Given the description of an element on the screen output the (x, y) to click on. 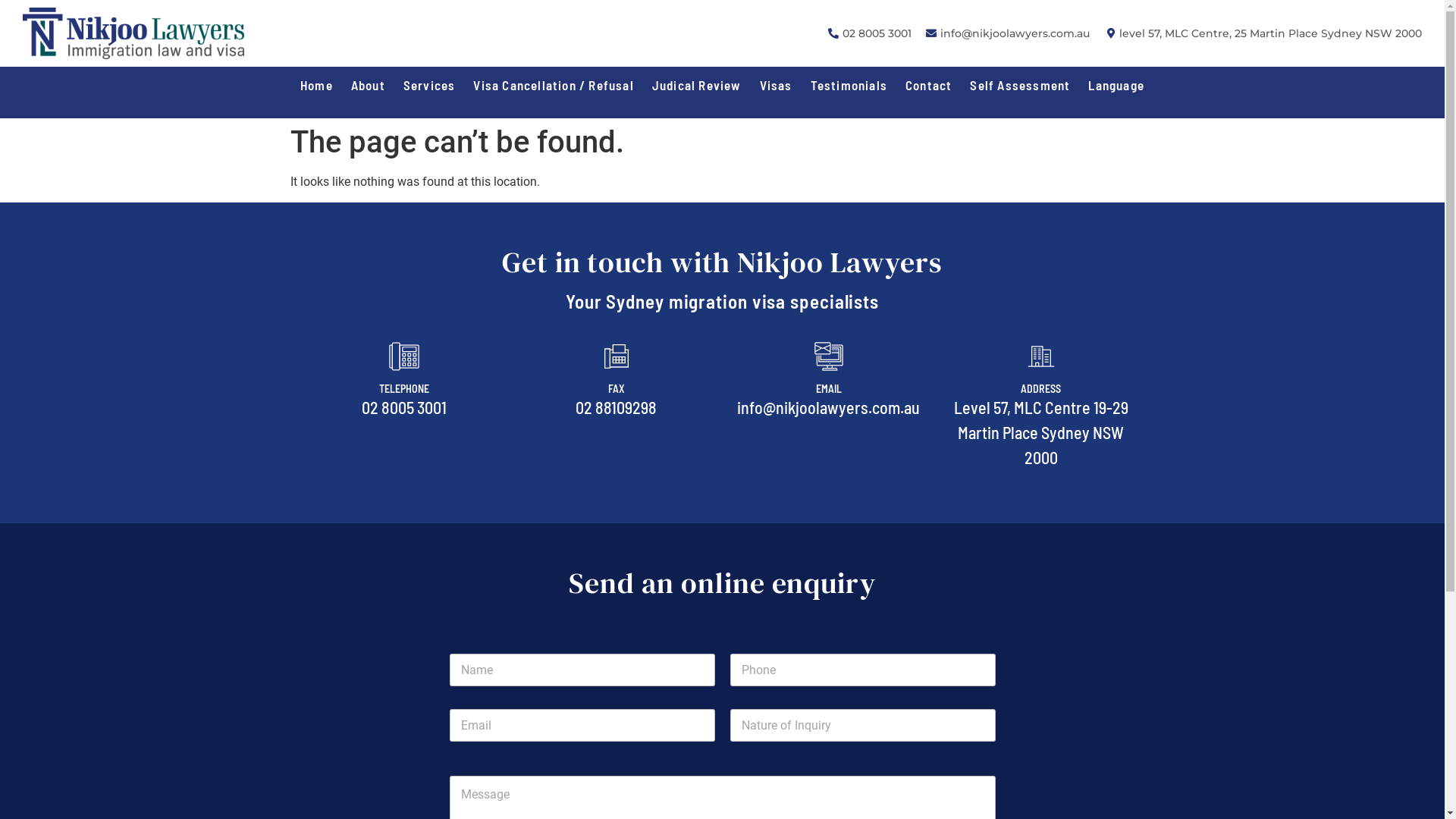
Services Element type: text (429, 84)
TELEPHONE Element type: text (404, 388)
Self Assessment Element type: text (1019, 84)
Home Element type: text (316, 84)
Visas Element type: text (775, 84)
About Element type: text (368, 84)
Contact Element type: text (928, 84)
Testimonials Element type: text (848, 84)
Language Element type: text (1116, 84)
Judical Review Element type: text (696, 84)
EMAIL Element type: text (828, 388)
02 8005 3001 Element type: text (868, 33)
info@nikjoolawyers.com.au Element type: text (1006, 33)
Visa Cancellation / Refusal Element type: text (553, 84)
